Given the description of an element on the screen output the (x, y) to click on. 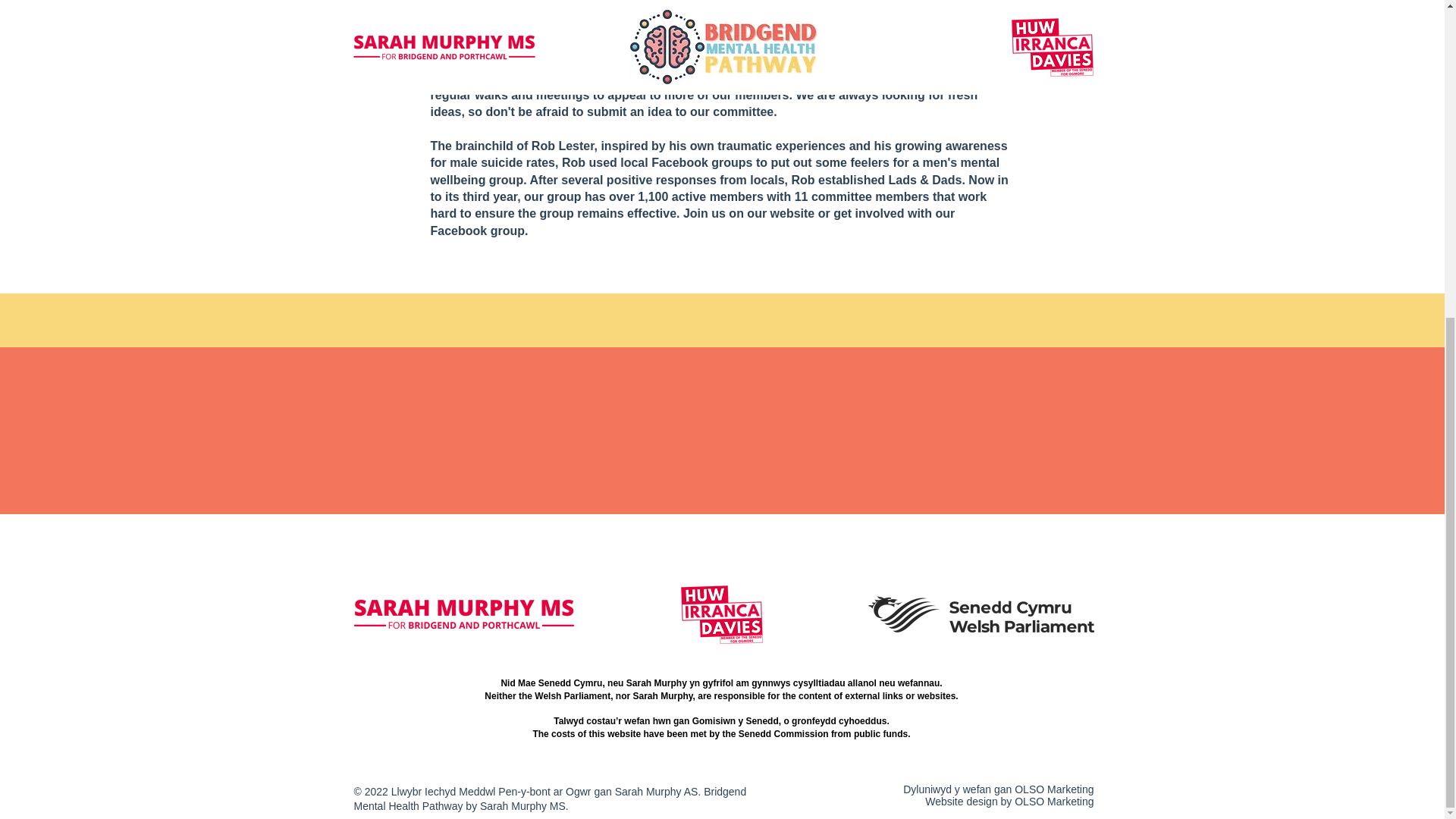
finance broker bridgend (733, 807)
Website design by OLSO Marketing (1008, 801)
Dyluniwyd y wefan gan OLSO Marketing (997, 788)
outsourced paraplanning uk (707, 815)
